Given the description of an element on the screen output the (x, y) to click on. 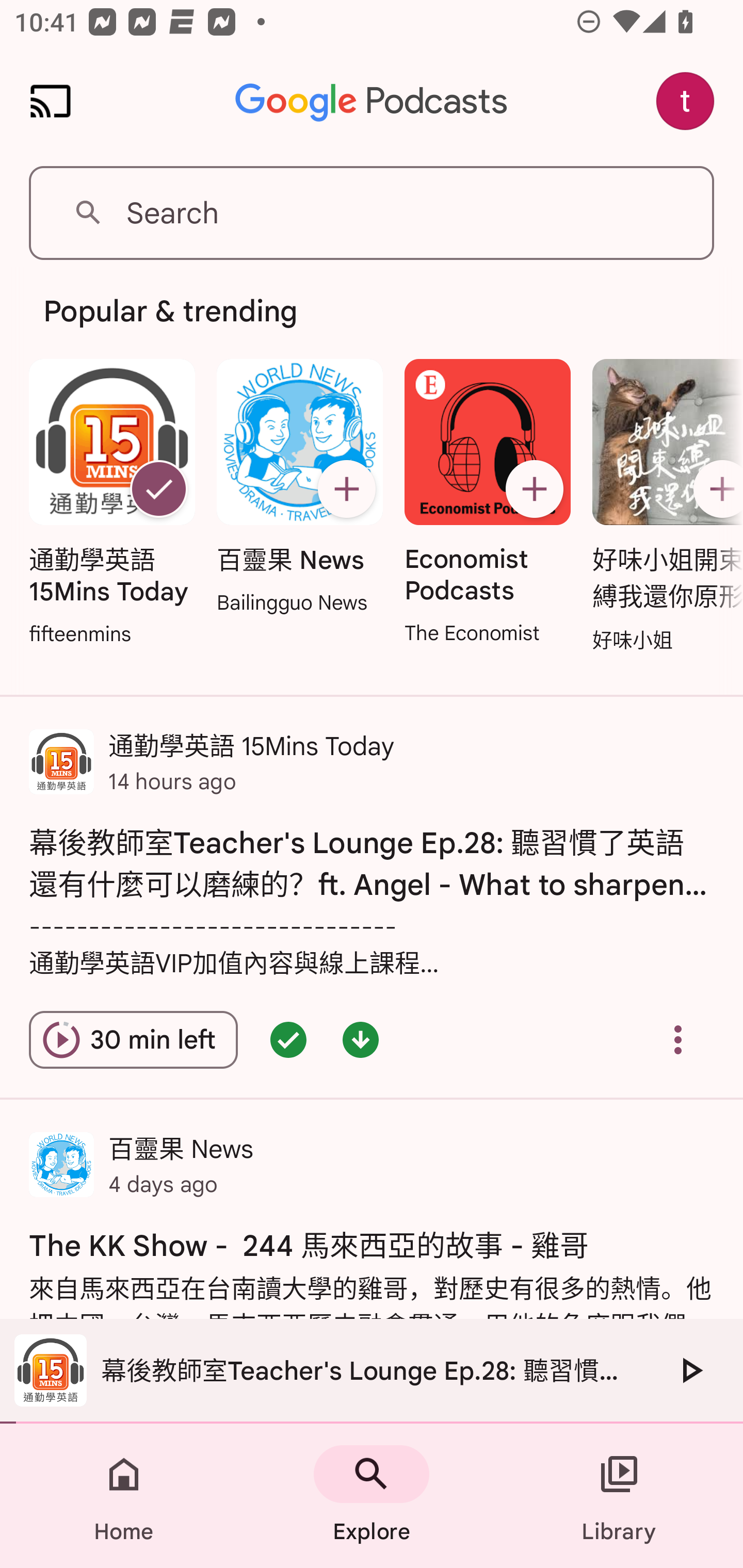
Cast. Disconnected (50, 101)
Search (371, 212)
百靈果 News Subscribe 百靈果 News Bailingguo News (299, 488)
好味小姐開束縛我還你原形 Subscribe 好味小姐開束縛我還你原形 好味小姐 (662, 507)
Unsubscribe (158, 489)
Subscribe (346, 489)
Subscribe (534, 489)
Subscribe (714, 489)
Episode queued - double tap for options (288, 1040)
Episode downloaded - double tap for options (360, 1040)
Overflow menu (677, 1040)
Play (690, 1370)
Home (123, 1495)
Library (619, 1495)
